Given the description of an element on the screen output the (x, y) to click on. 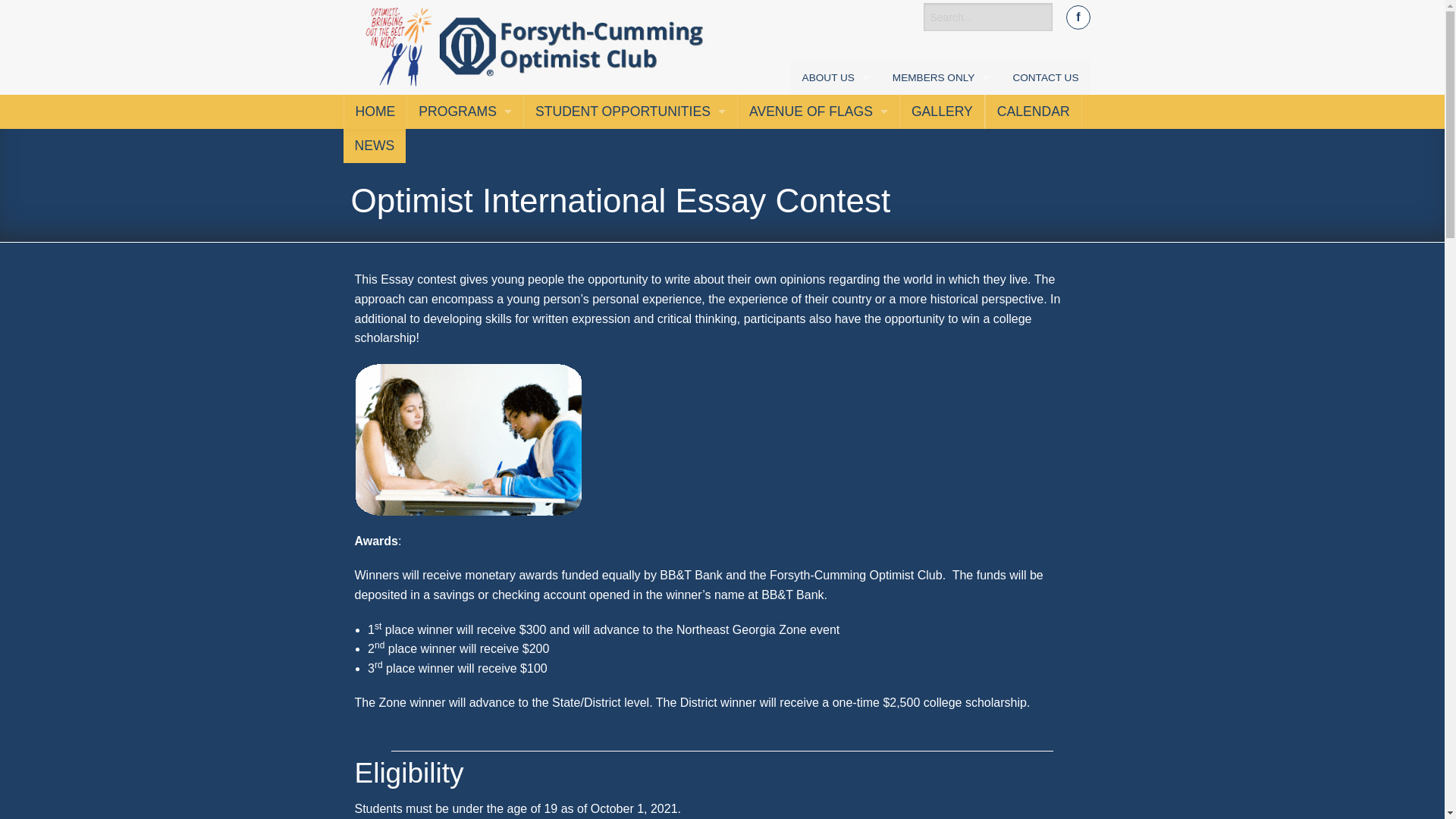
FISHING DERBY (464, 179)
JOI CLUBS (630, 247)
RENEWAL FLAG SUBSCRIPTION ONLY (818, 179)
Search for: (987, 17)
OTHER OPPORTUNITIES (630, 282)
ADDITIONAL PROGRAMS (464, 213)
THE OPTIMIST CREED (835, 247)
ABOUT US (835, 77)
HOME (375, 111)
MEMBERS ONLY (940, 77)
IN REMEMBERANCE (835, 145)
PROCLAMATION (835, 213)
f (1077, 16)
ESSAY CONTEST (630, 179)
AVENUE OF FLAGS (818, 111)
